Given the description of an element on the screen output the (x, y) to click on. 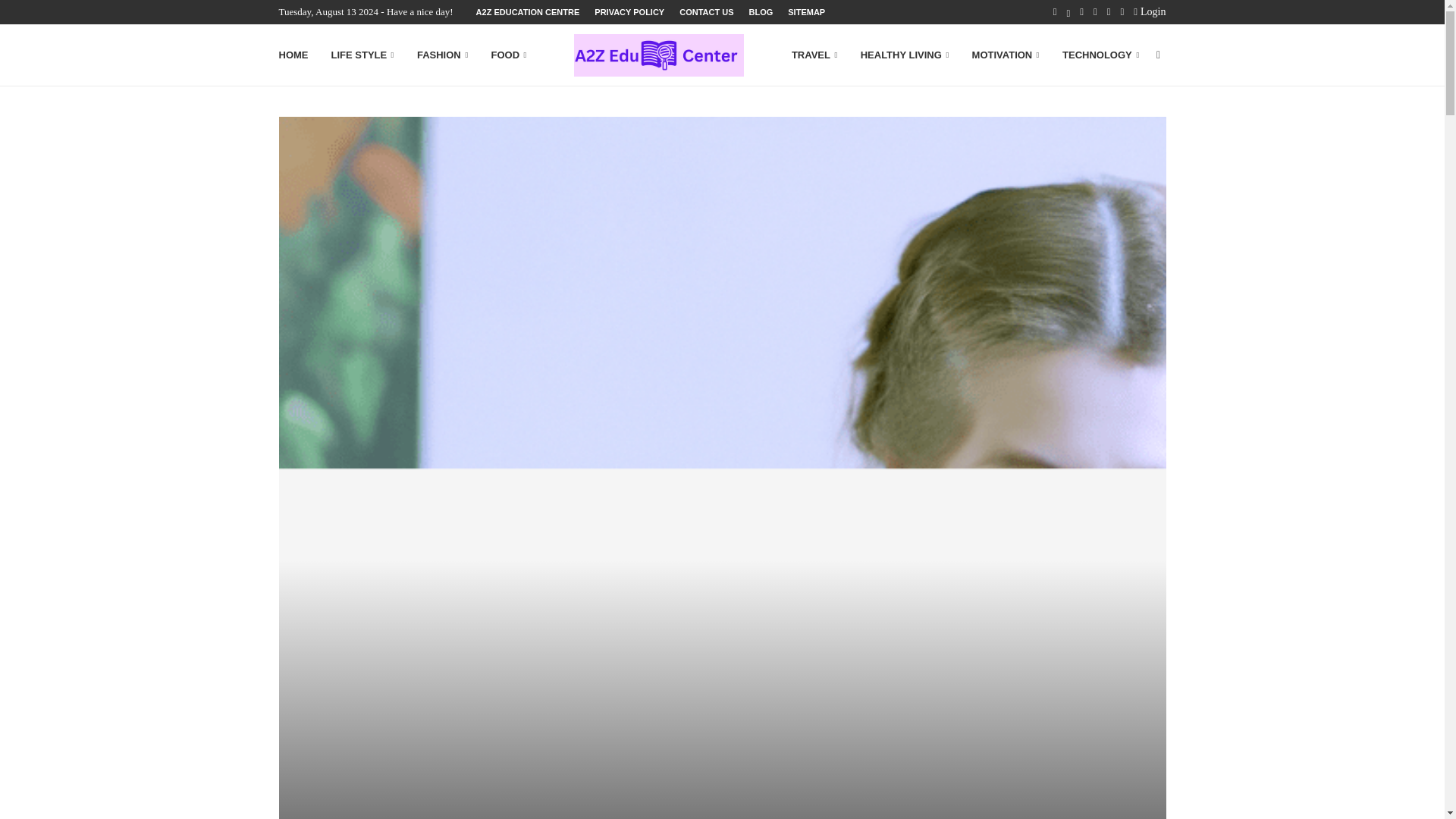
HEALTHY LIVING (904, 55)
LIFE STYLE (361, 55)
SITEMAP (806, 12)
BLOG (761, 12)
MOTIVATION (1005, 55)
A2Z EDUCATION CENTRE (527, 12)
TECHNOLOGY (1100, 55)
Login (1150, 12)
PRIVACY POLICY (628, 12)
CONTACT US (706, 12)
